Given the description of an element on the screen output the (x, y) to click on. 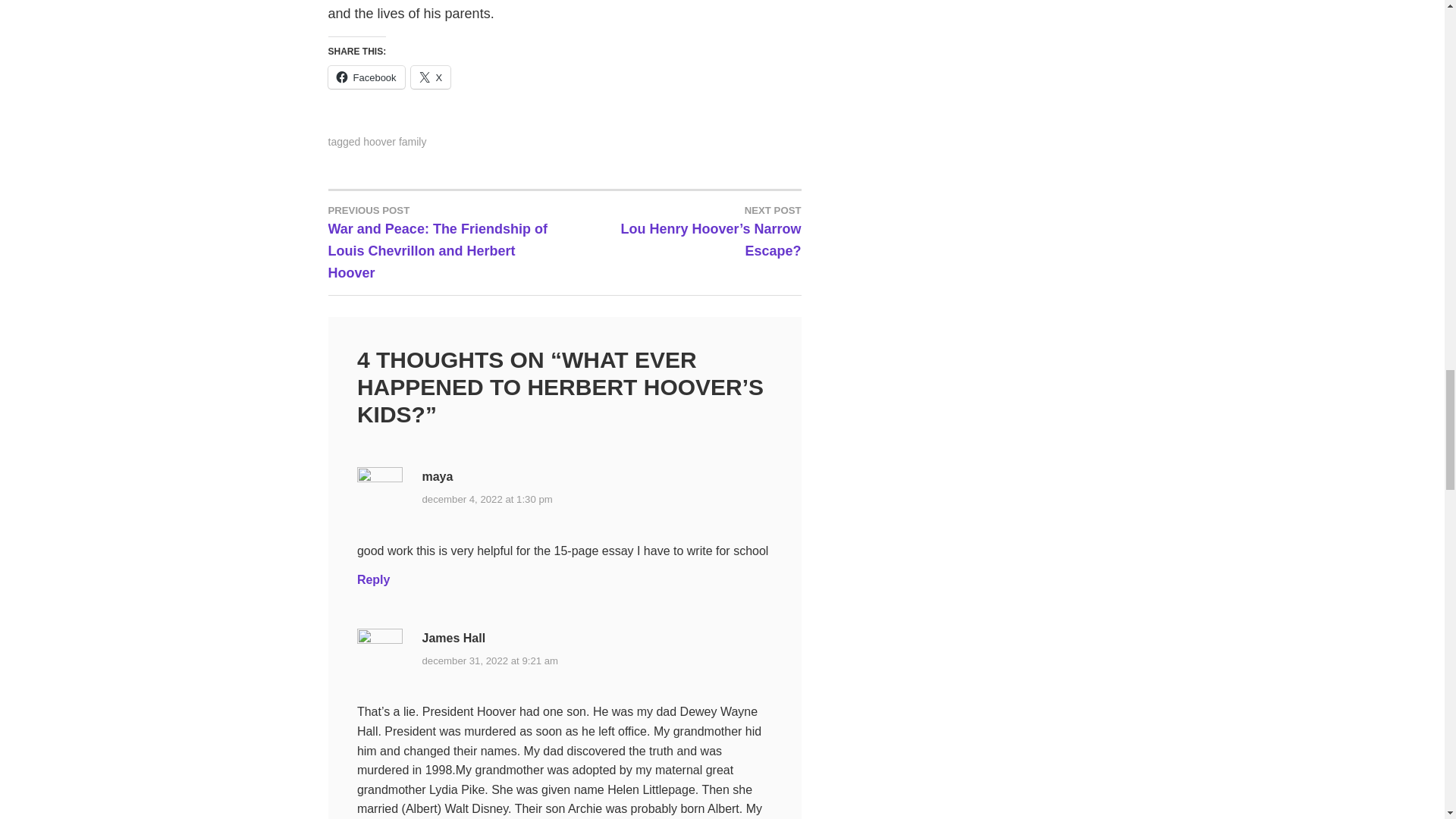
Reply (373, 579)
december 31, 2022 at 9:21 am (489, 660)
december 4, 2022 at 1:30 pm (486, 498)
Facebook (365, 77)
hoover family (394, 141)
Click to share on Facebook (365, 77)
Click to share on X (430, 77)
X (430, 77)
